Given the description of an element on the screen output the (x, y) to click on. 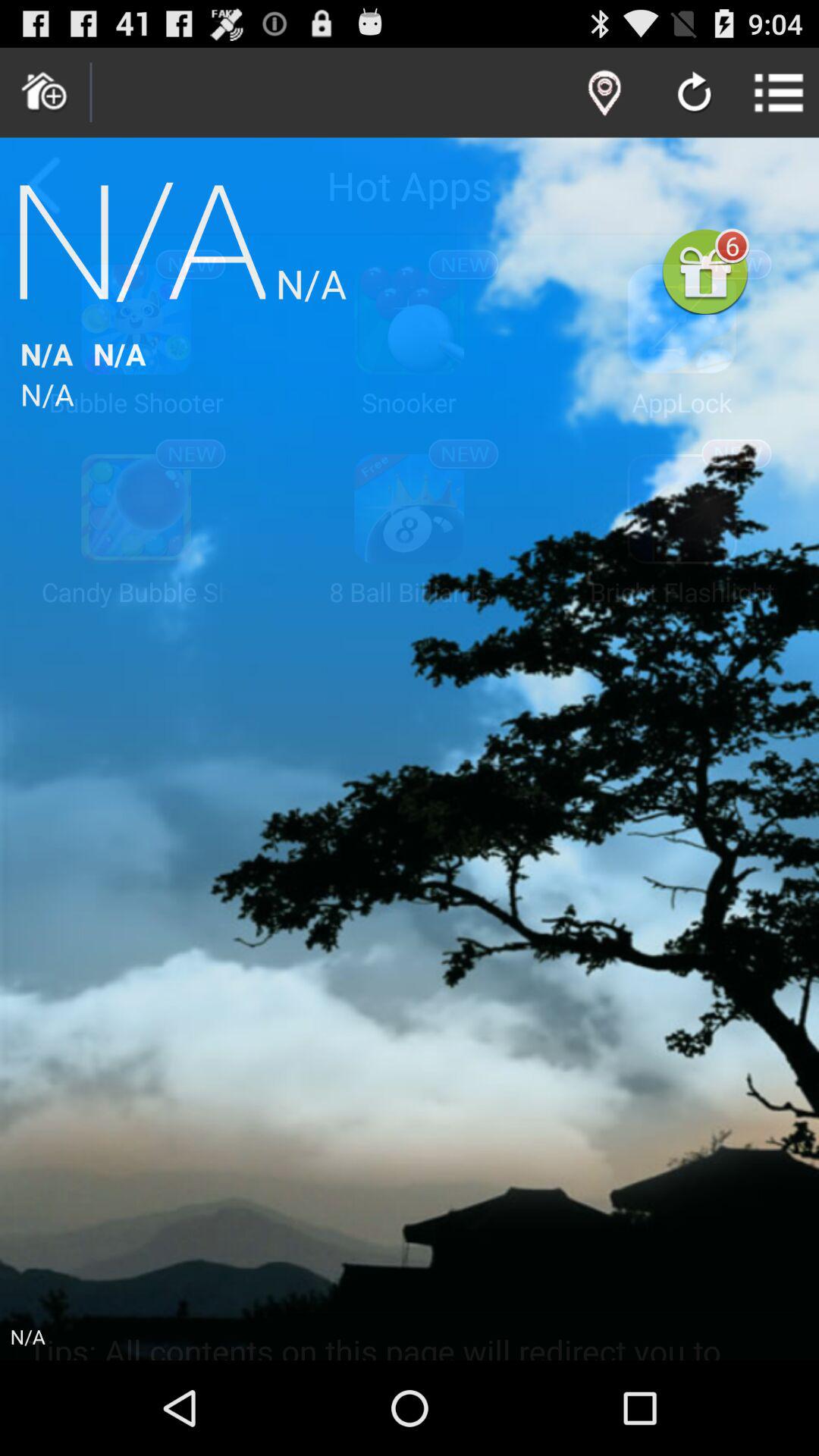
view menu (779, 92)
